Given the description of an element on the screen output the (x, y) to click on. 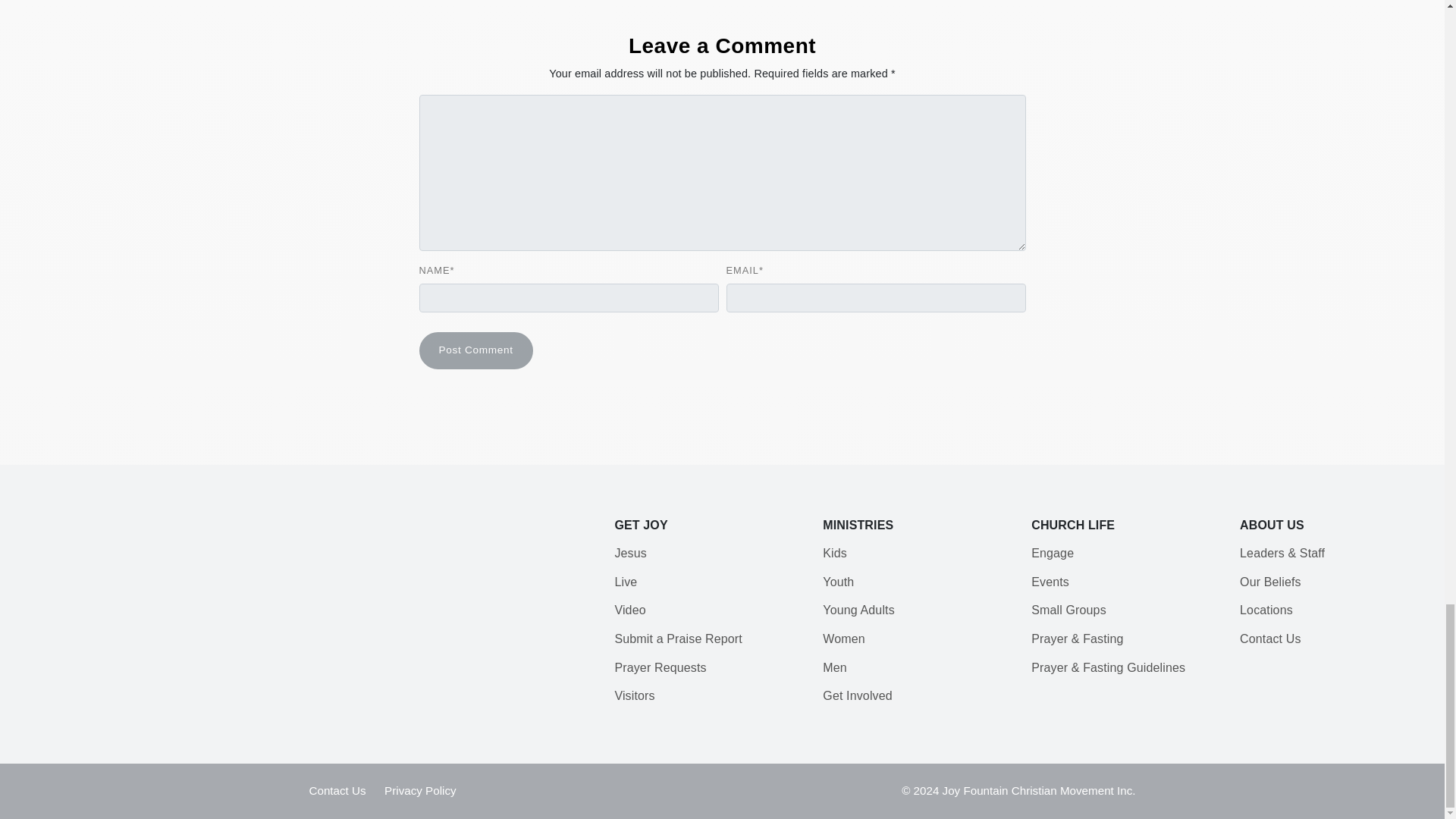
Women (843, 638)
Our Beliefs (1270, 581)
Locations (1266, 609)
Men (834, 667)
Events (1049, 581)
GET JOY (640, 524)
Live (625, 581)
Kids (834, 553)
Visitors (633, 695)
Young Adults (858, 609)
